Given the description of an element on the screen output the (x, y) to click on. 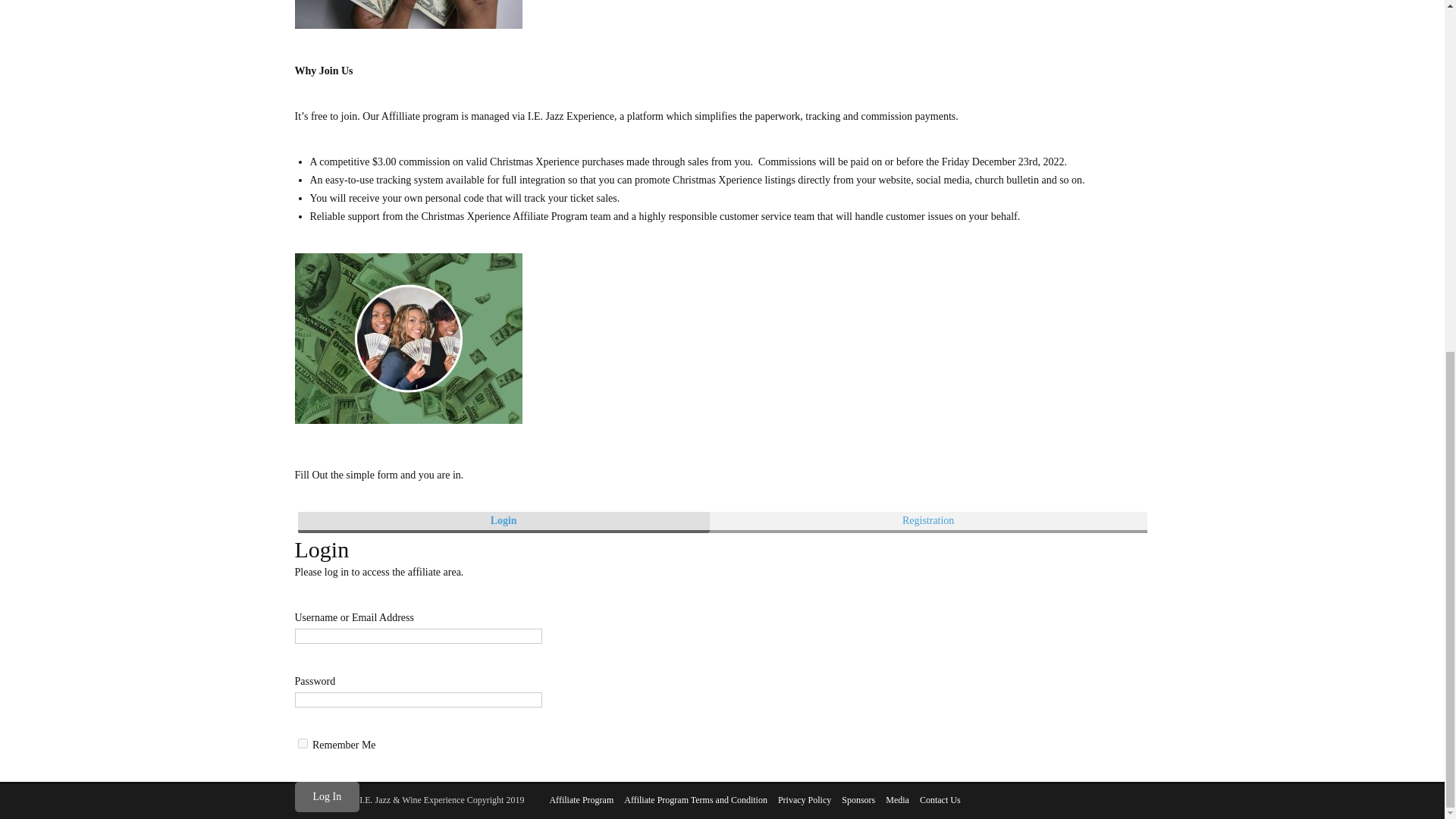
Sponsors (858, 799)
Media (896, 799)
Affiliate Program Terms and Condition (695, 799)
Registration (927, 520)
Affiliate Program (580, 799)
Privacy Policy (804, 799)
Log In (326, 797)
Login (502, 520)
Contact Us (940, 799)
forever (302, 743)
